Given the description of an element on the screen output the (x, y) to click on. 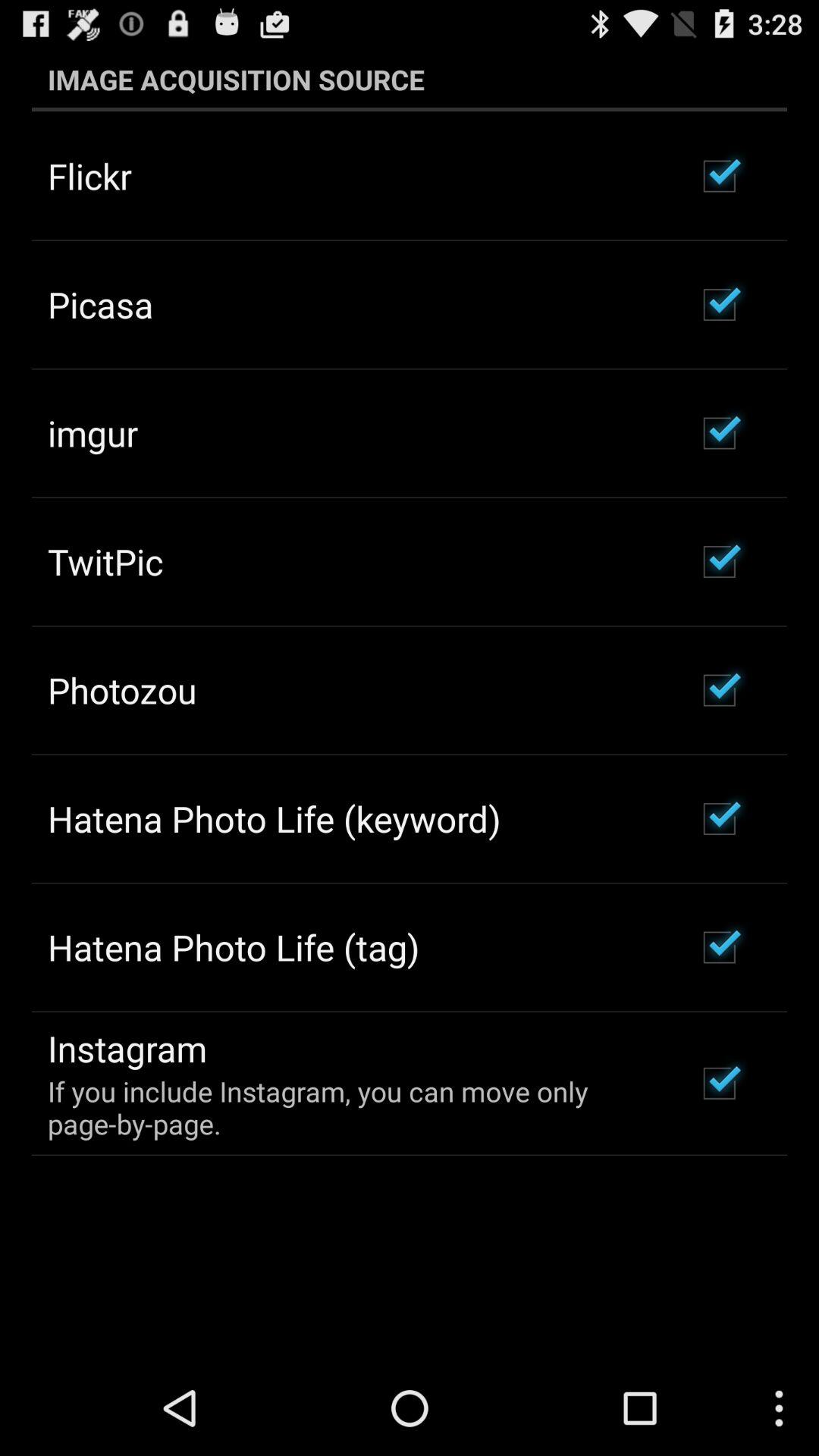
open the item below the picasa (92, 432)
